Given the description of an element on the screen output the (x, y) to click on. 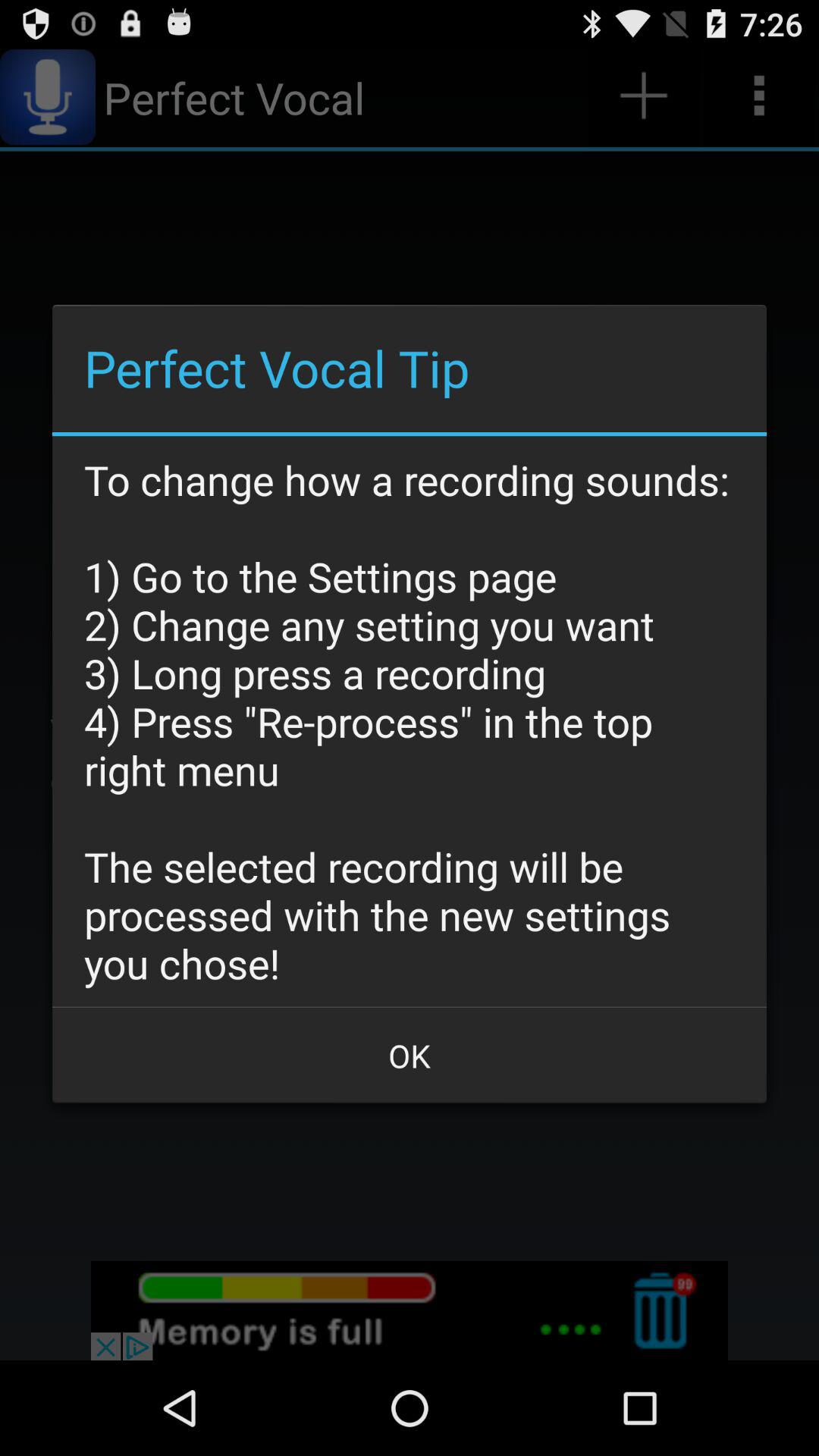
flip to the ok (409, 1055)
